Given the description of an element on the screen output the (x, y) to click on. 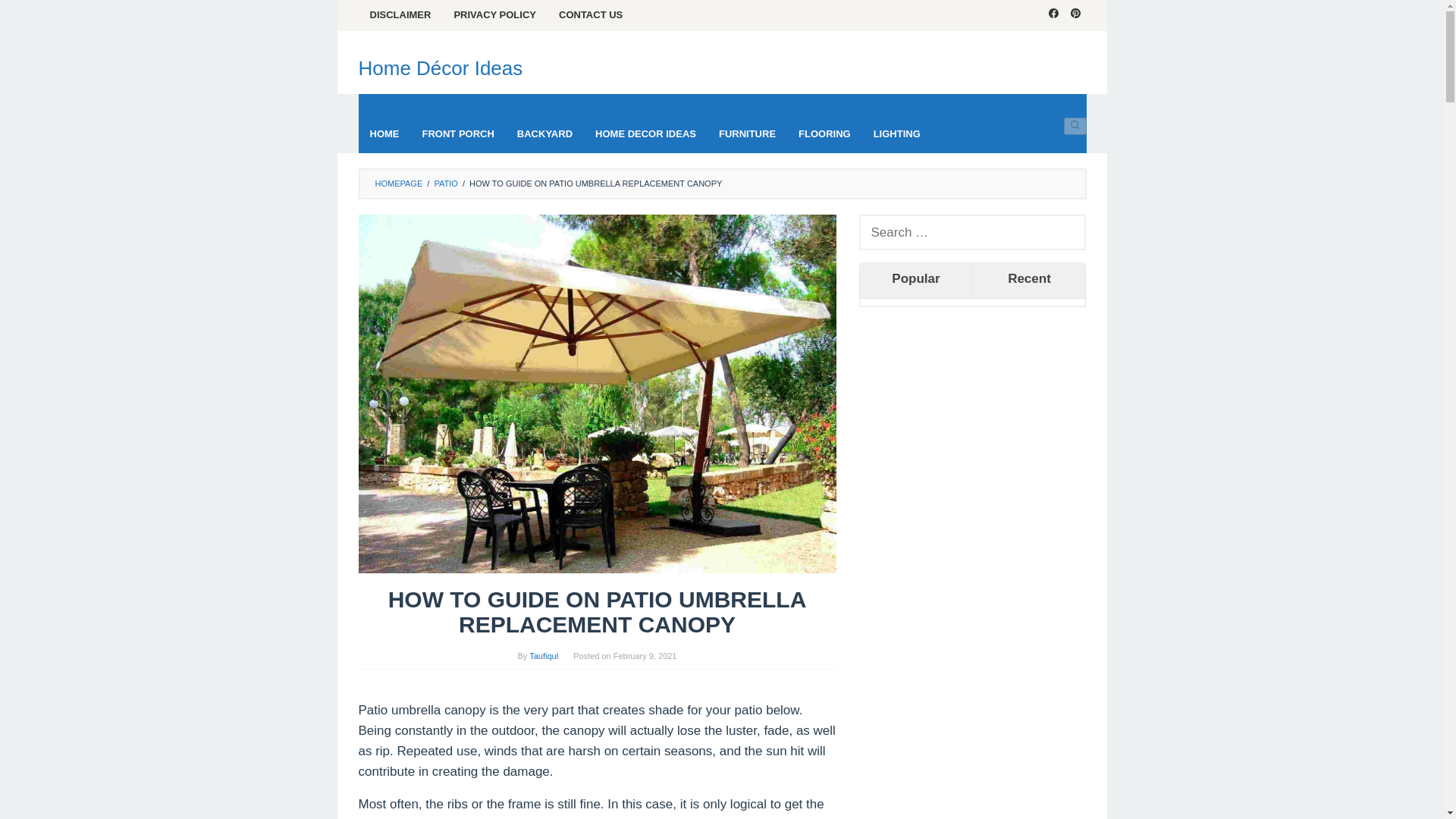
BACKYARD (544, 134)
PRIVACY POLICY (494, 15)
Taufiqul (543, 655)
Home (384, 134)
PATIO (445, 183)
Search (1075, 125)
FLOORING (824, 134)
HOME DECOR IDEAS (645, 134)
FRONT PORCH (457, 134)
